Given the description of an element on the screen output the (x, y) to click on. 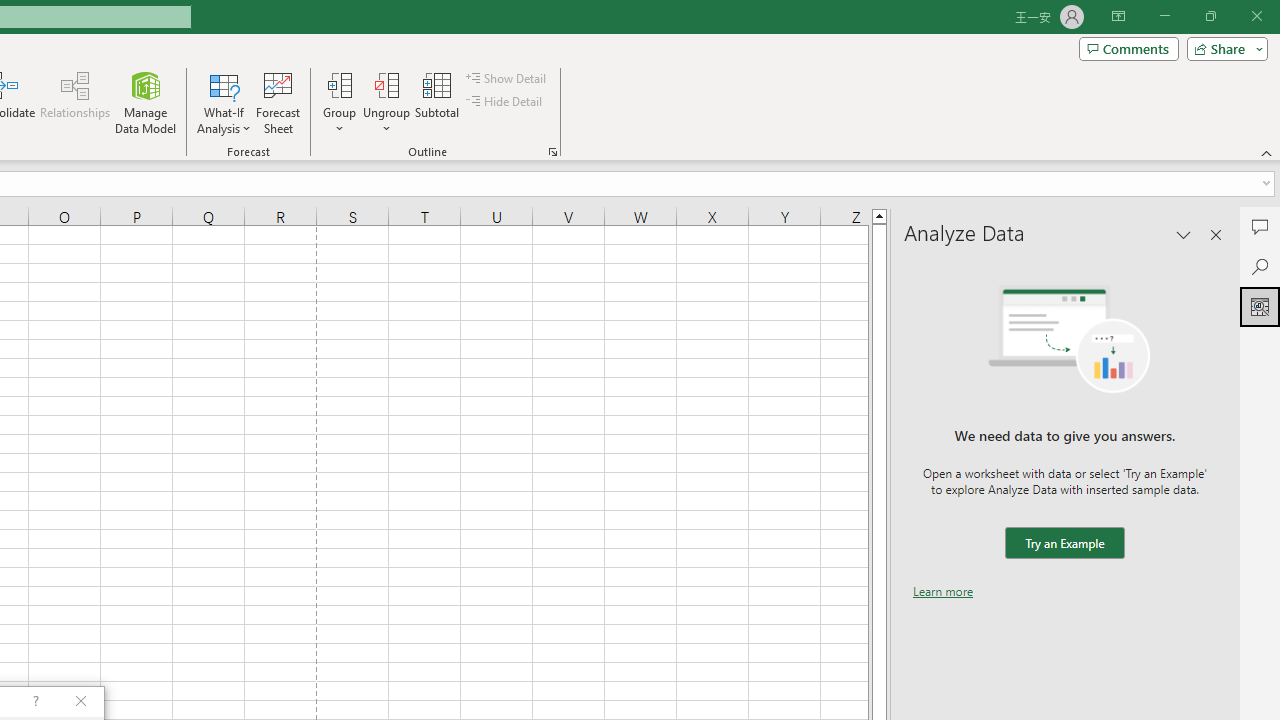
Show Detail (507, 78)
We need data to give you answers. Try an Example (1064, 543)
Forecast Sheet (278, 102)
Search (1260, 266)
Learn more (943, 591)
Analyze Data (1260, 306)
